Given the description of an element on the screen output the (x, y) to click on. 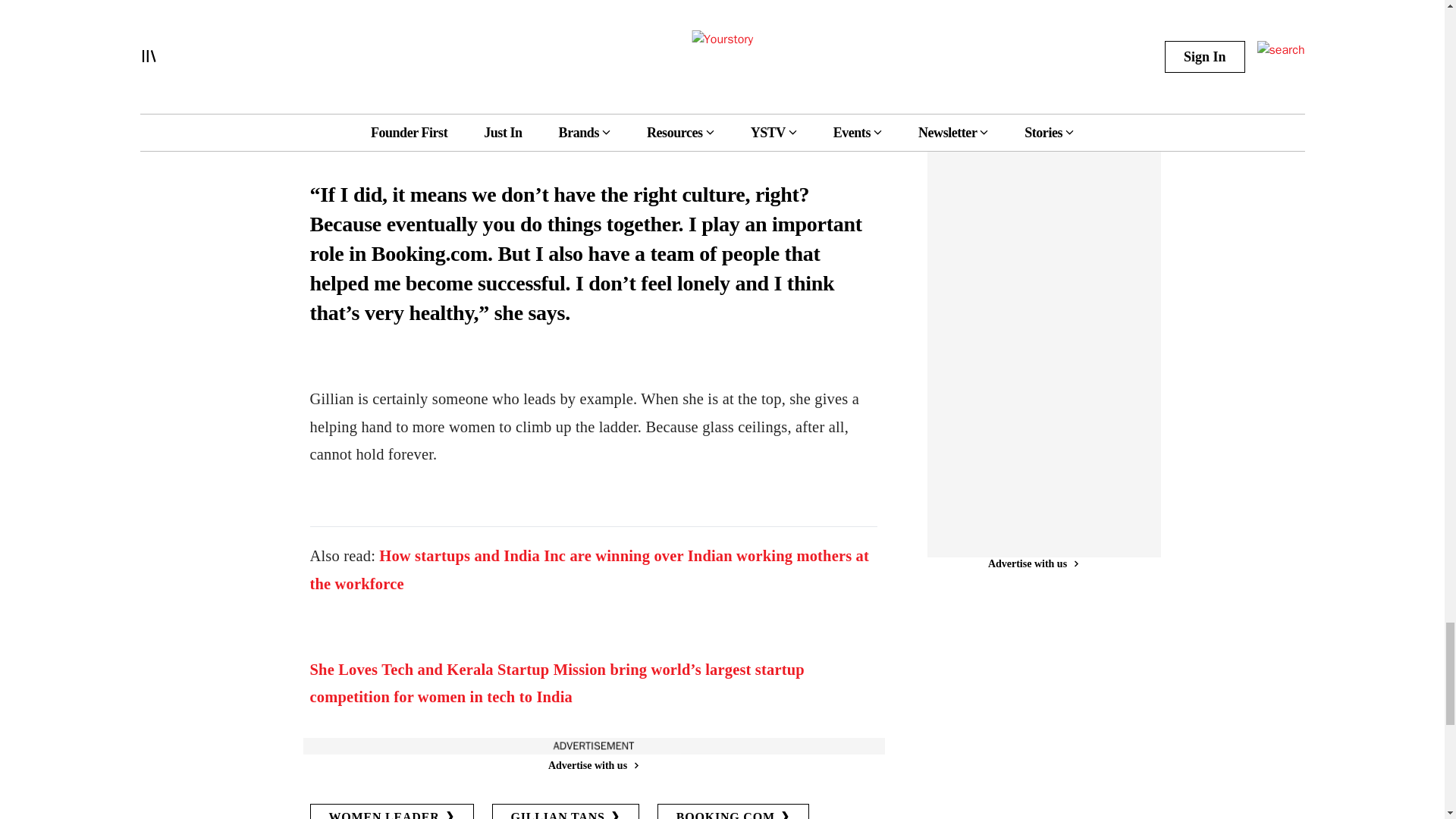
WOMEN LEADER (390, 811)
GILLIAN TANS (565, 811)
Advertise with us (592, 765)
BOOKING.COM (733, 811)
